Given the description of an element on the screen output the (x, y) to click on. 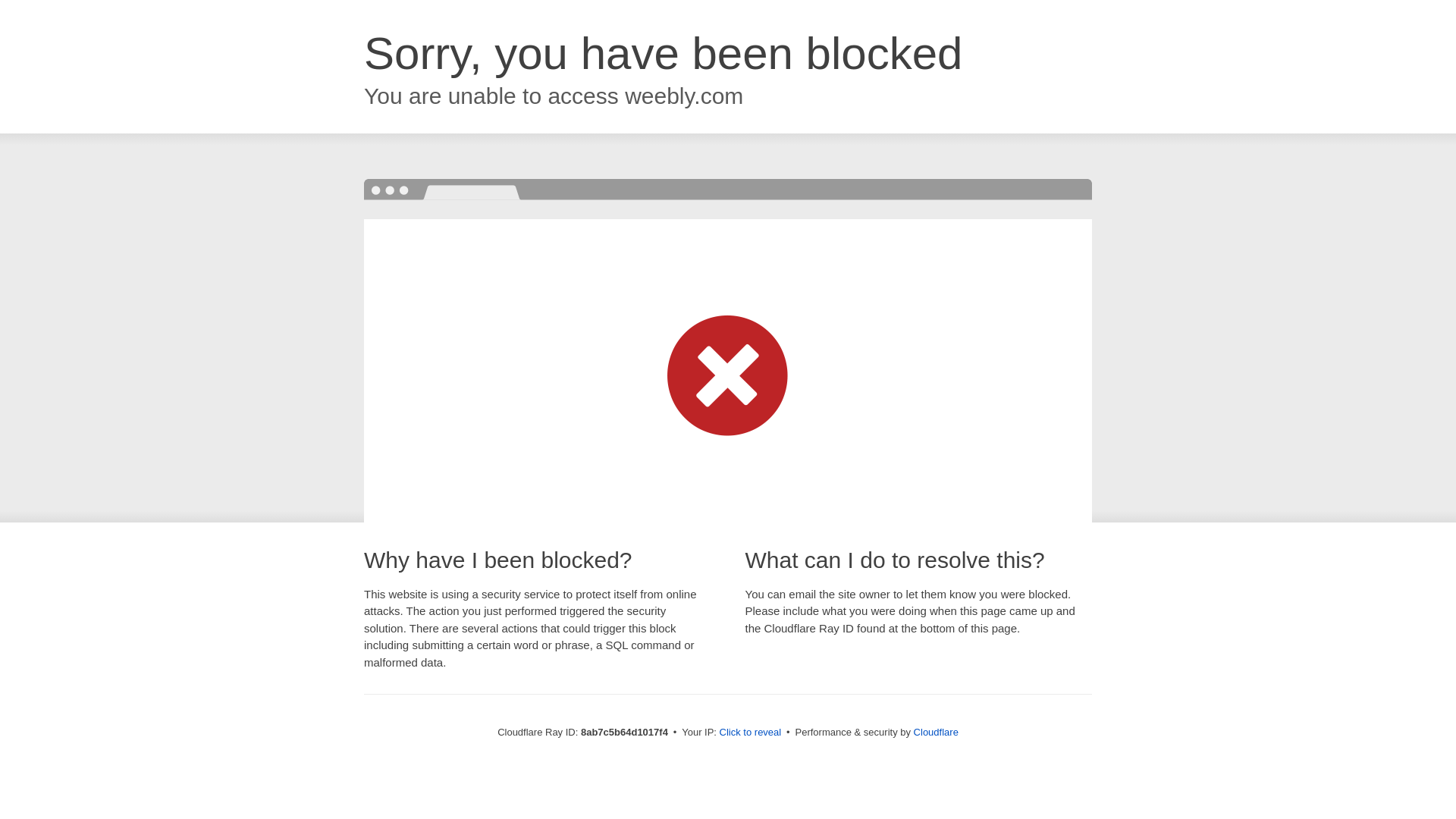
Cloudflare (936, 731)
Click to reveal (750, 732)
